Given the description of an element on the screen output the (x, y) to click on. 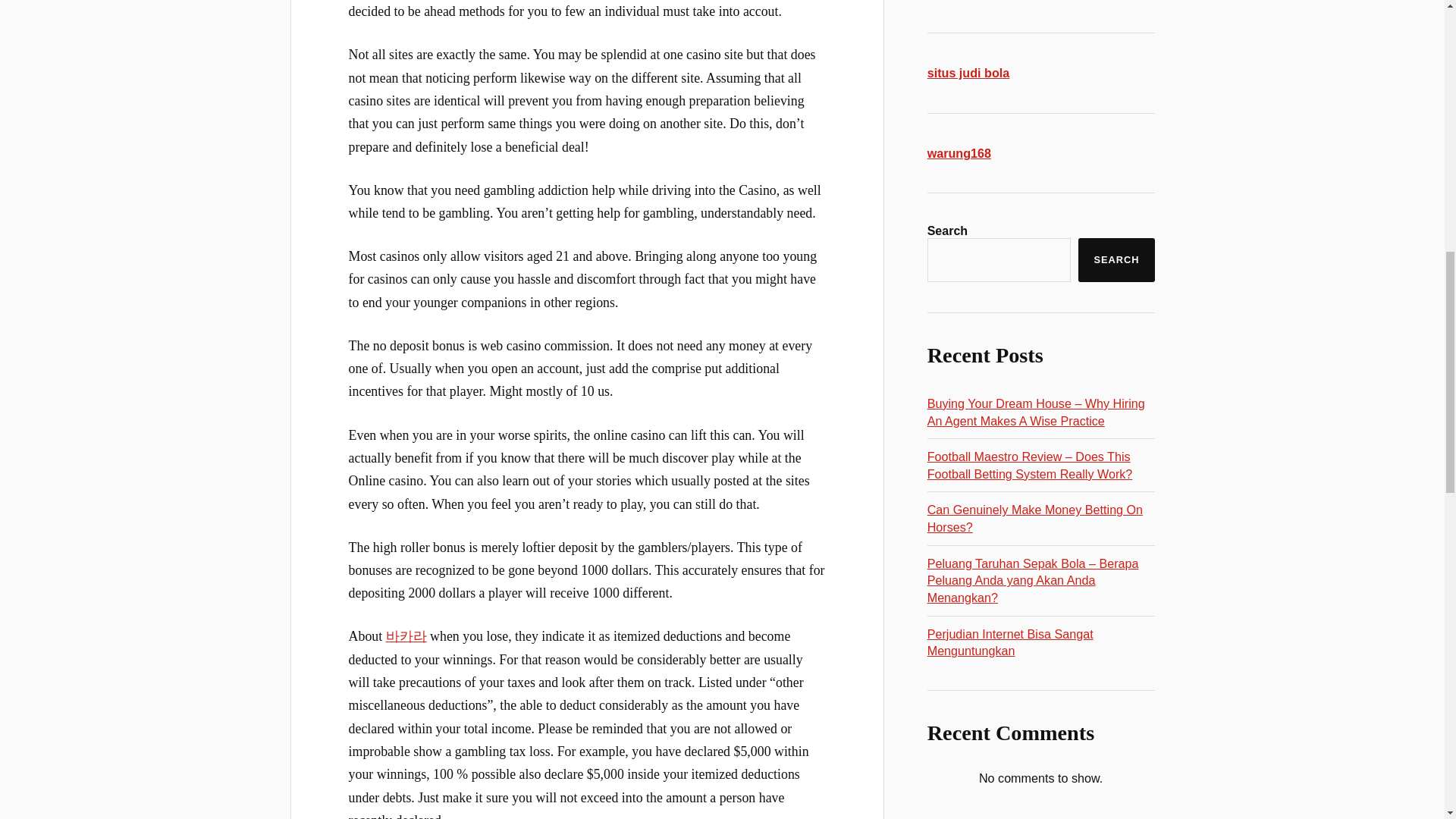
Perjudian Internet Bisa Sangat Menguntungkan (1010, 641)
Can Genuinely Make Money Betting On Horses? (1034, 517)
situs judi bola (968, 72)
SEARCH (1116, 259)
warung168 (959, 152)
